Given the description of an element on the screen output the (x, y) to click on. 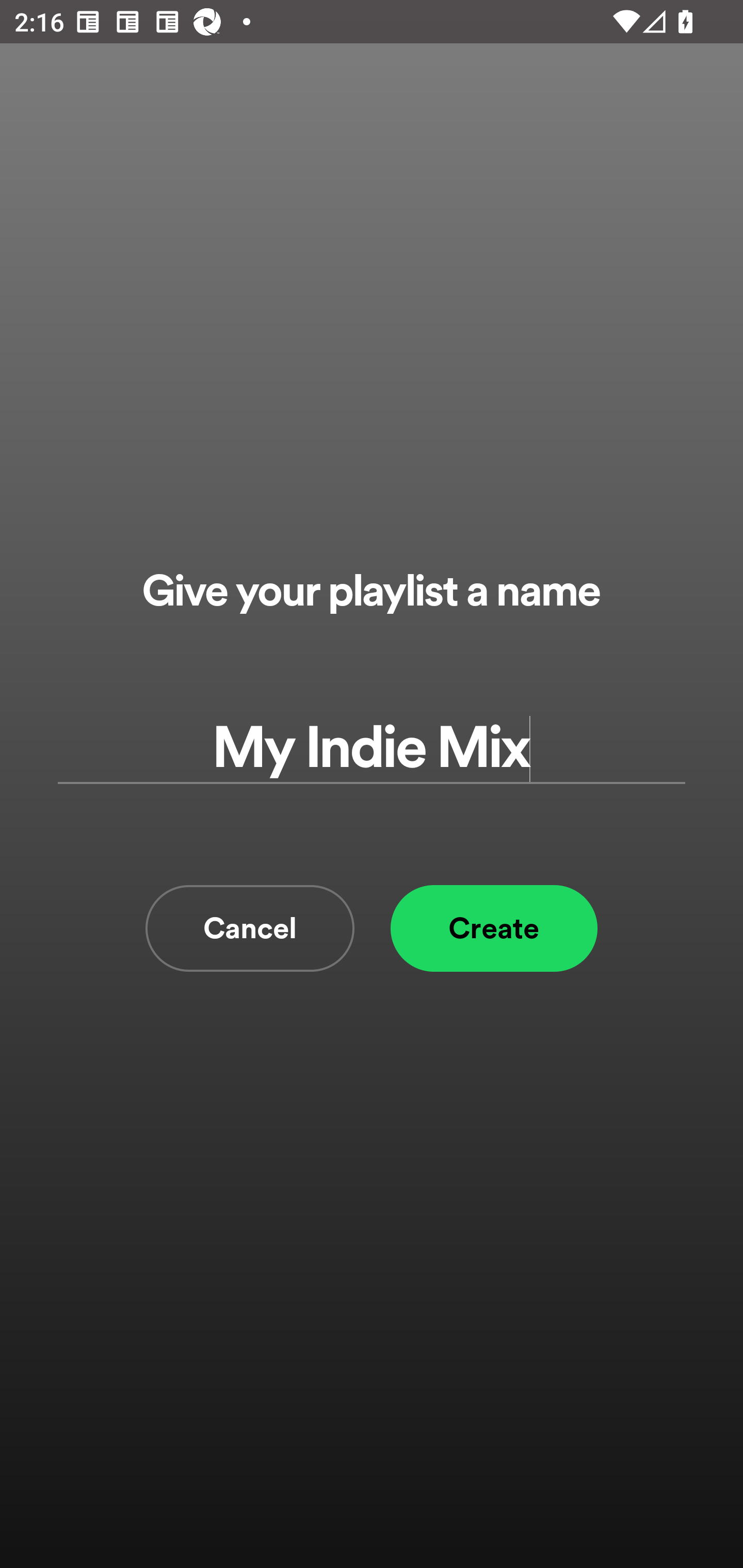
My Indie Mix Add a playlist name (371, 749)
Cancel (249, 928)
Create (493, 928)
